Given the description of an element on the screen output the (x, y) to click on. 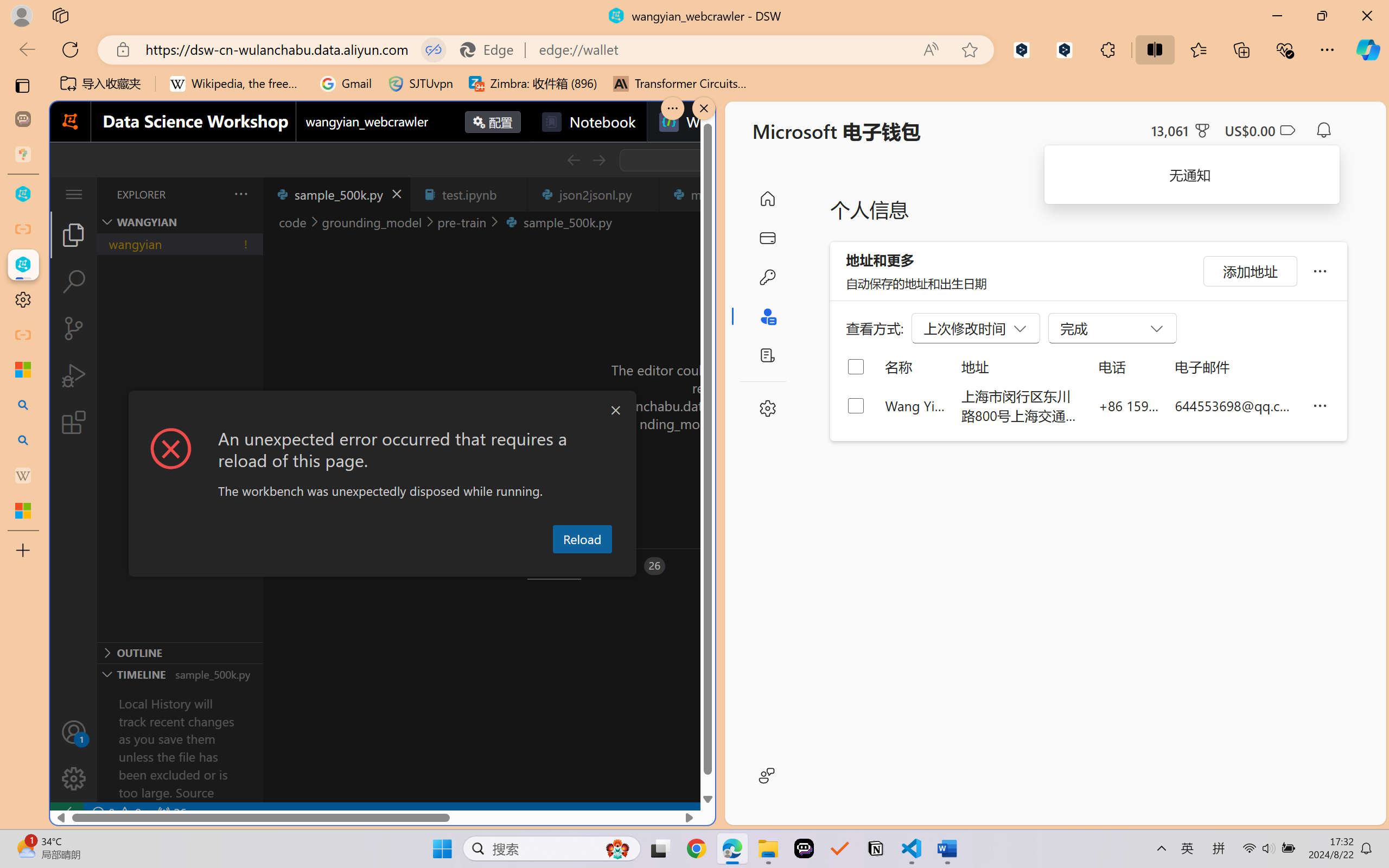
json2jsonl.py (593, 194)
Close Dialog (615, 410)
Source Control (Ctrl+Shift+G) (73, 328)
Edge (492, 49)
Run and Debug (Ctrl+Shift+D) (73, 375)
